Given the description of an element on the screen output the (x, y) to click on. 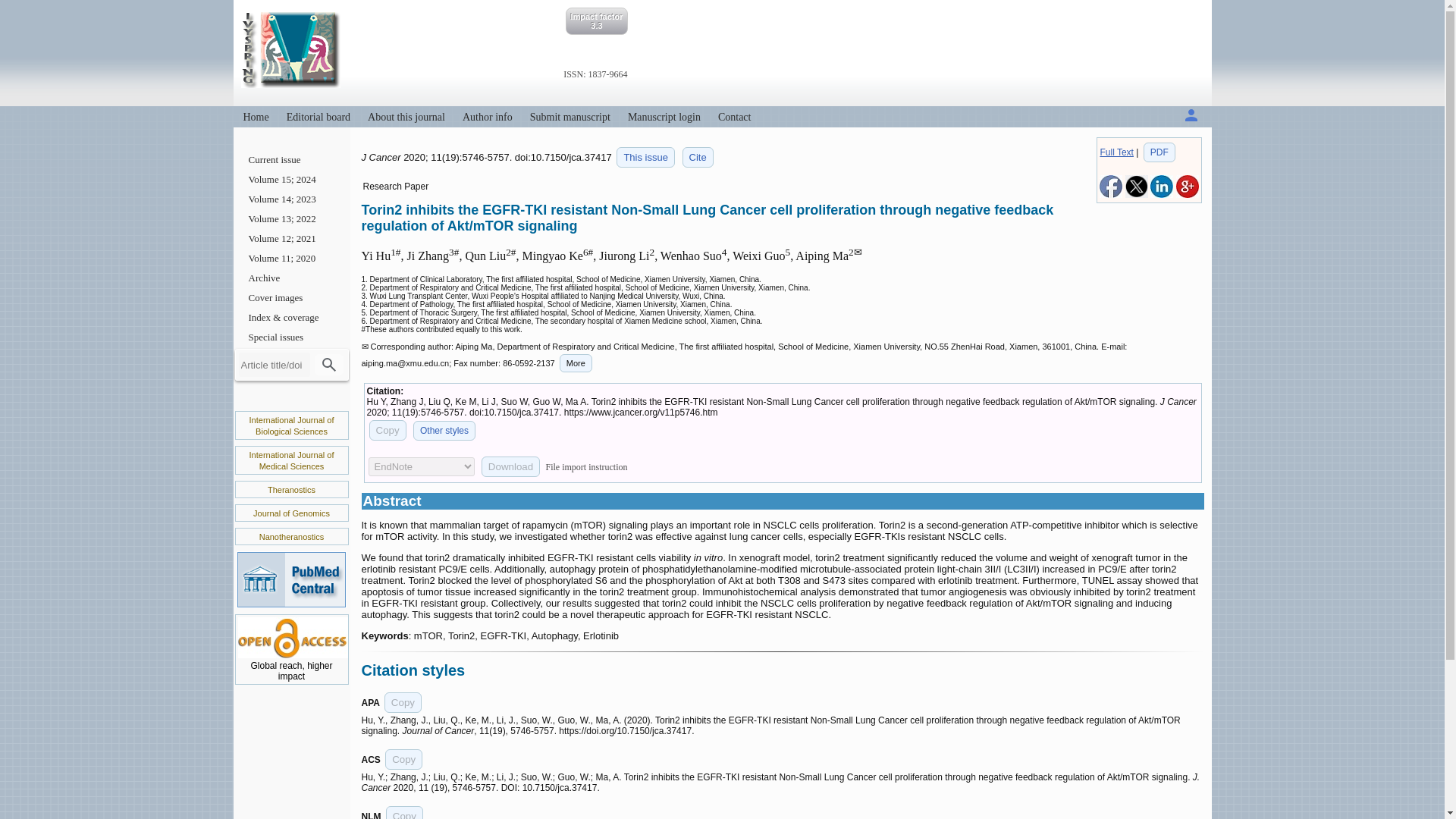
Contact (734, 117)
Theranostics (291, 489)
Download (510, 466)
Current issue (291, 159)
Share on googleplus (1186, 194)
Volume 12; 2021 (291, 238)
Copy (404, 812)
Editorial board (318, 117)
Search (328, 364)
Other styles (444, 430)
